Given the description of an element on the screen output the (x, y) to click on. 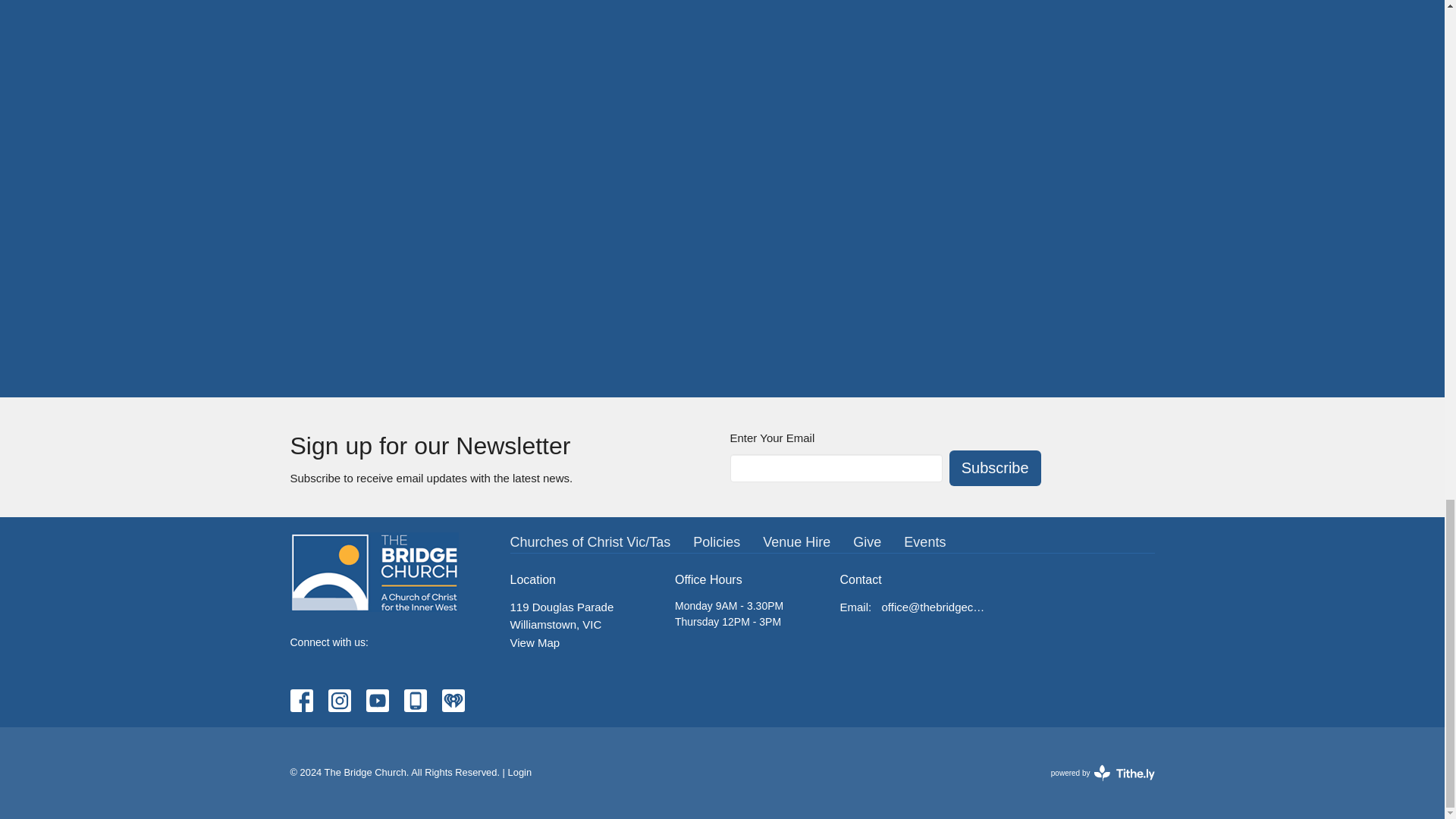
translation missing: en.ui.email (854, 606)
Events (924, 542)
View Map (534, 642)
Login (520, 772)
Venue Hire (795, 542)
Policies (1102, 772)
Give (716, 542)
Subscribe (866, 542)
